Given the description of an element on the screen output the (x, y) to click on. 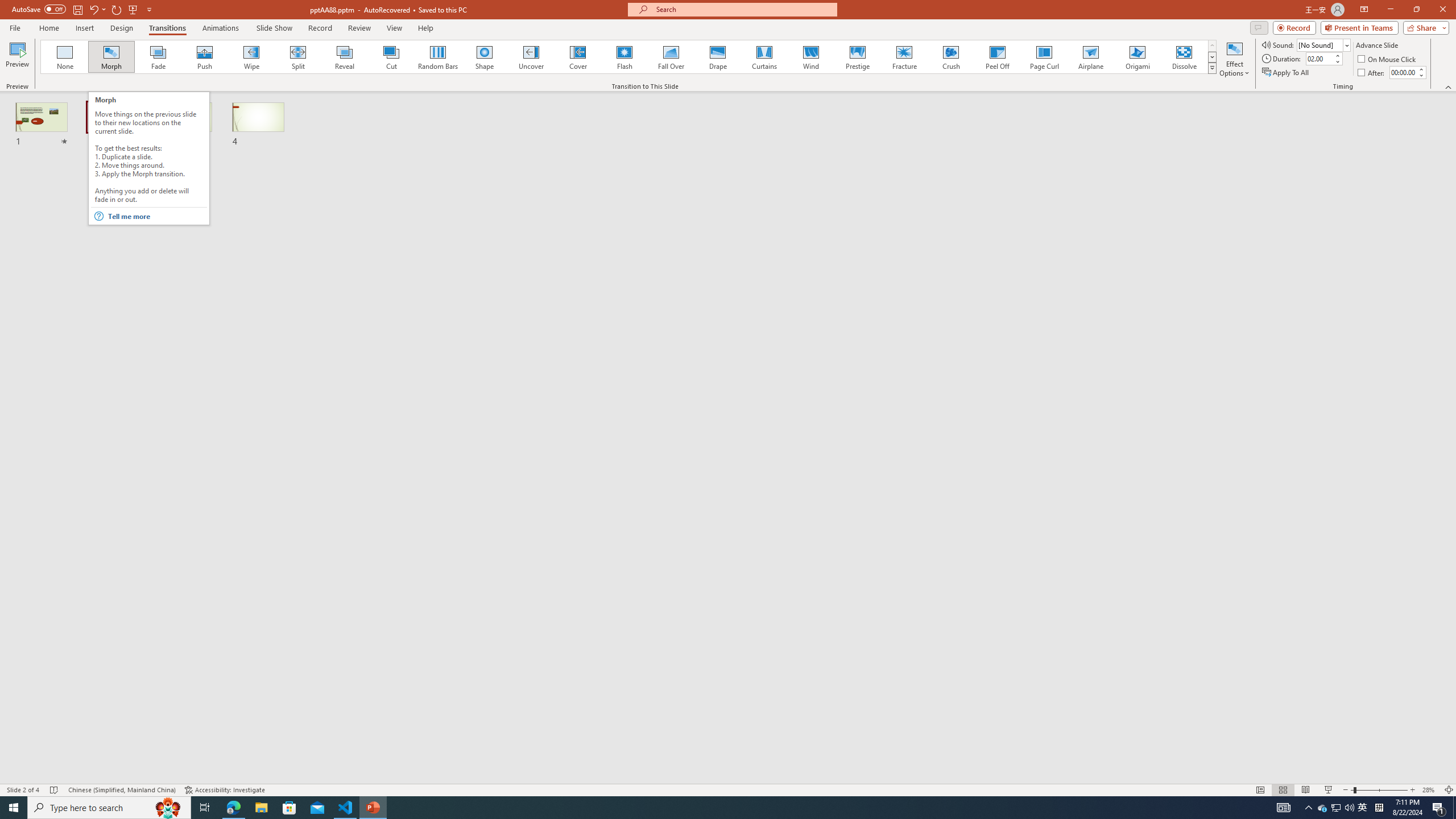
Uncover (531, 56)
Cover (577, 56)
On Mouse Click (1387, 58)
Crush (950, 56)
Airplane (1090, 56)
Curtains (764, 56)
Morph (111, 56)
Sound (1324, 44)
